Given the description of an element on the screen output the (x, y) to click on. 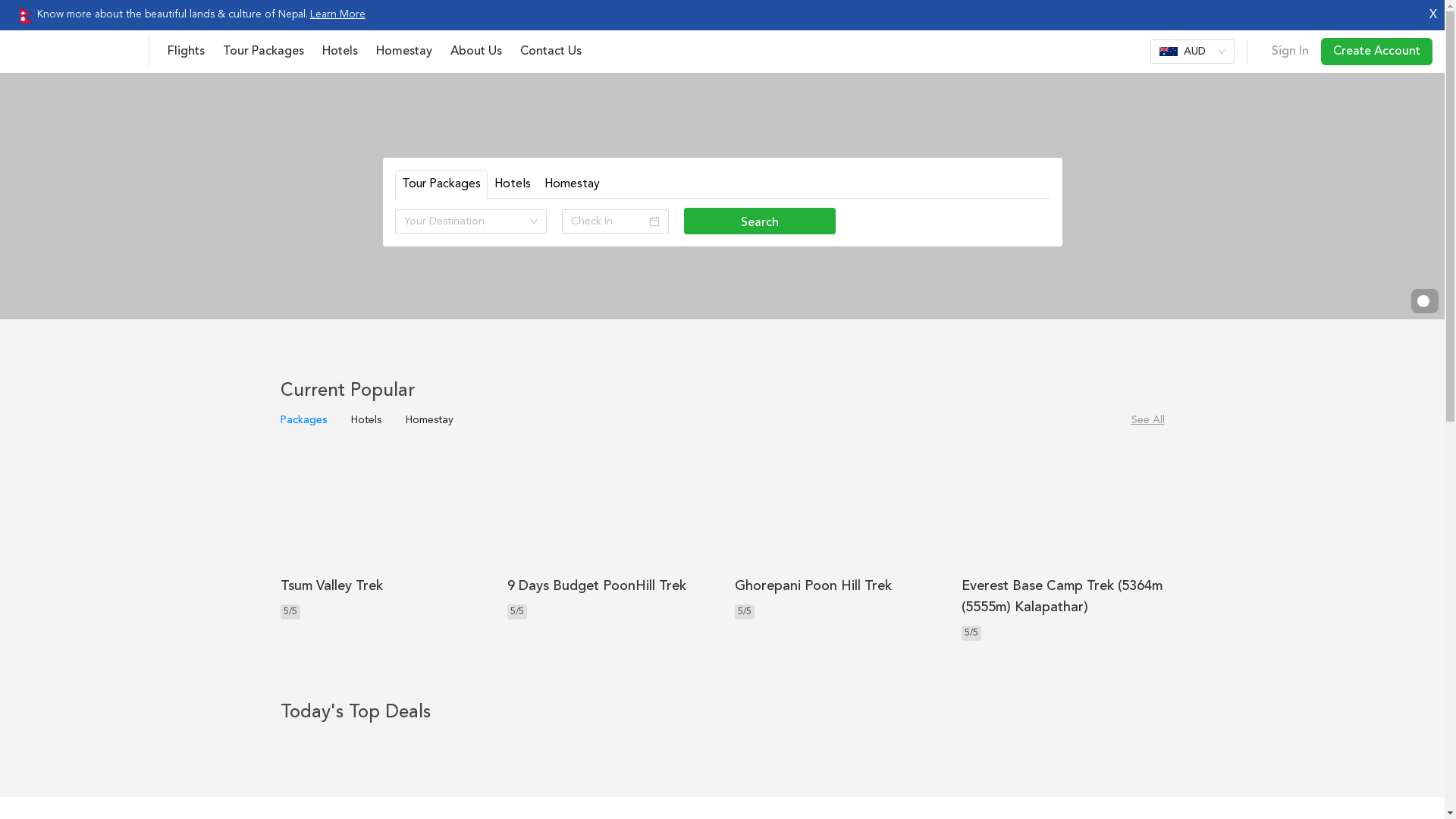
Contact Us Element type: text (550, 51)
Hotels Element type: text (512, 184)
Tsum Valley Trek Element type: text (331, 586)
Ghorepani Poon Hill Trek Element type: text (812, 586)
Tour Packages Element type: text (440, 184)
Sign In Element type: text (1290, 51)
9 Days Budget PoonHill Trek Element type: text (596, 586)
Everest Base Camp Trek (5364m (5555m) Kalapathar) Element type: text (1061, 596)
Homestay Element type: text (571, 184)
See All Element type: text (1147, 419)
Create Account Element type: text (1376, 51)
About Us Element type: text (476, 51)
Flights Element type: text (185, 51)
Search Element type: text (759, 220)
Tour Packages Element type: text (263, 51)
Homestay Element type: text (404, 51)
Hotels Element type: text (339, 51)
